Given the description of an element on the screen output the (x, y) to click on. 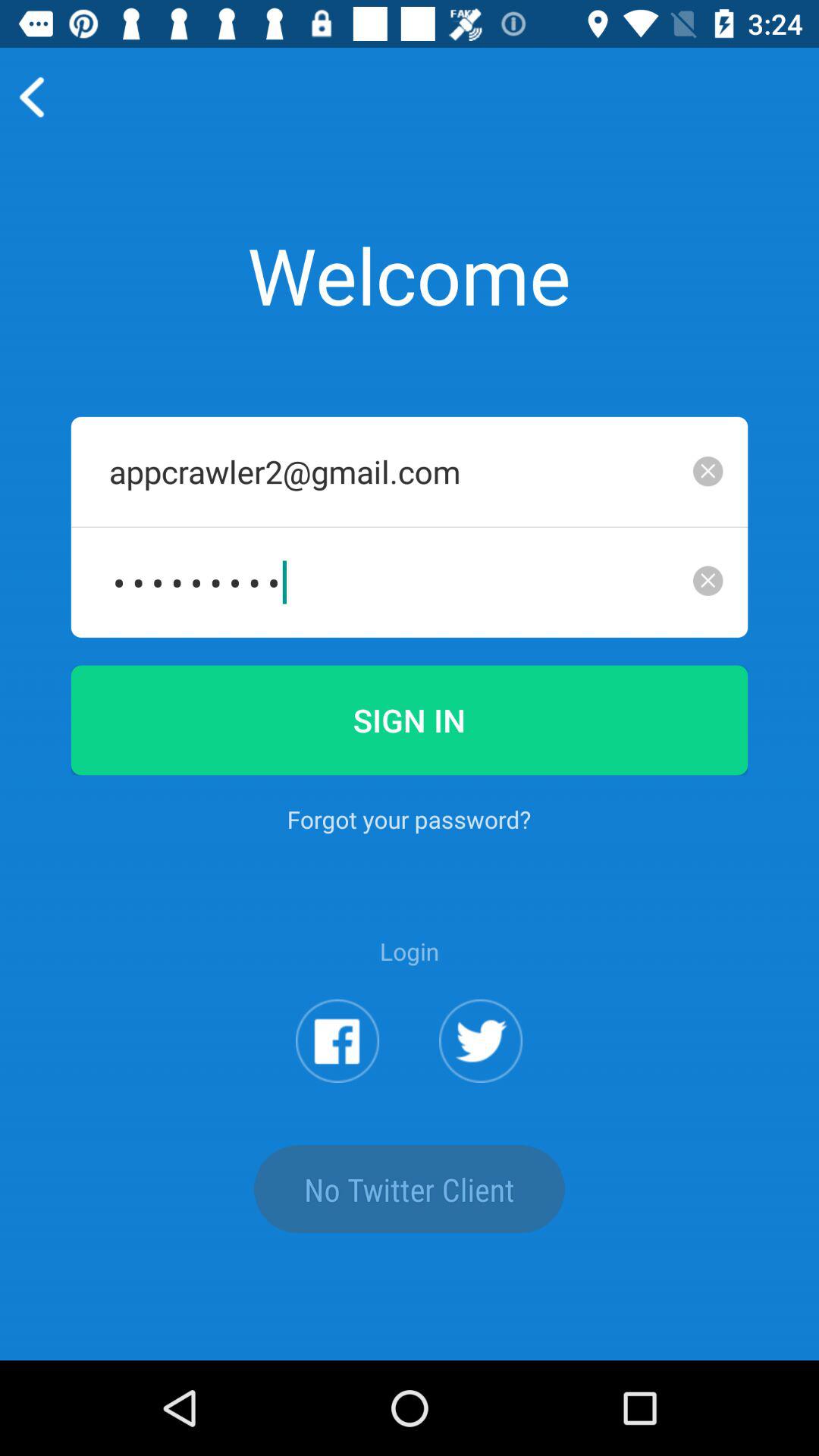
click x to hide email (708, 471)
